Given the description of an element on the screen output the (x, y) to click on. 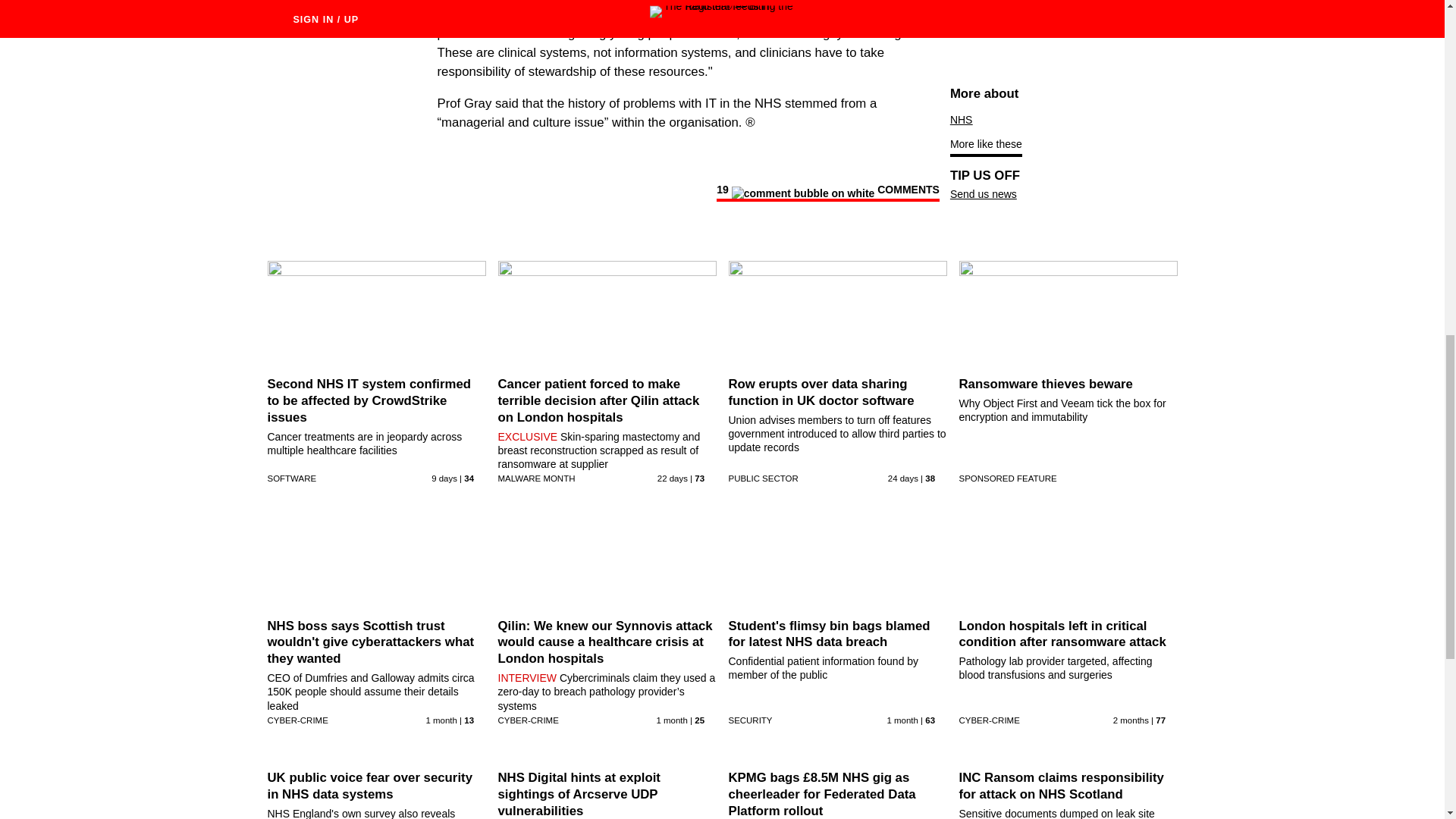
18 Jun 2024 11:29 (441, 719)
20 Jun 2024 10:29 (671, 719)
19 Jul 2024 12:43 (443, 478)
13 Jun 2024 11:30 (901, 719)
5 Jul 2024 17:0 (672, 478)
4 Jul 2024 9:31 (903, 478)
4 Jun 2024 15:43 (1130, 719)
View comments on this article (827, 192)
